Given the description of an element on the screen output the (x, y) to click on. 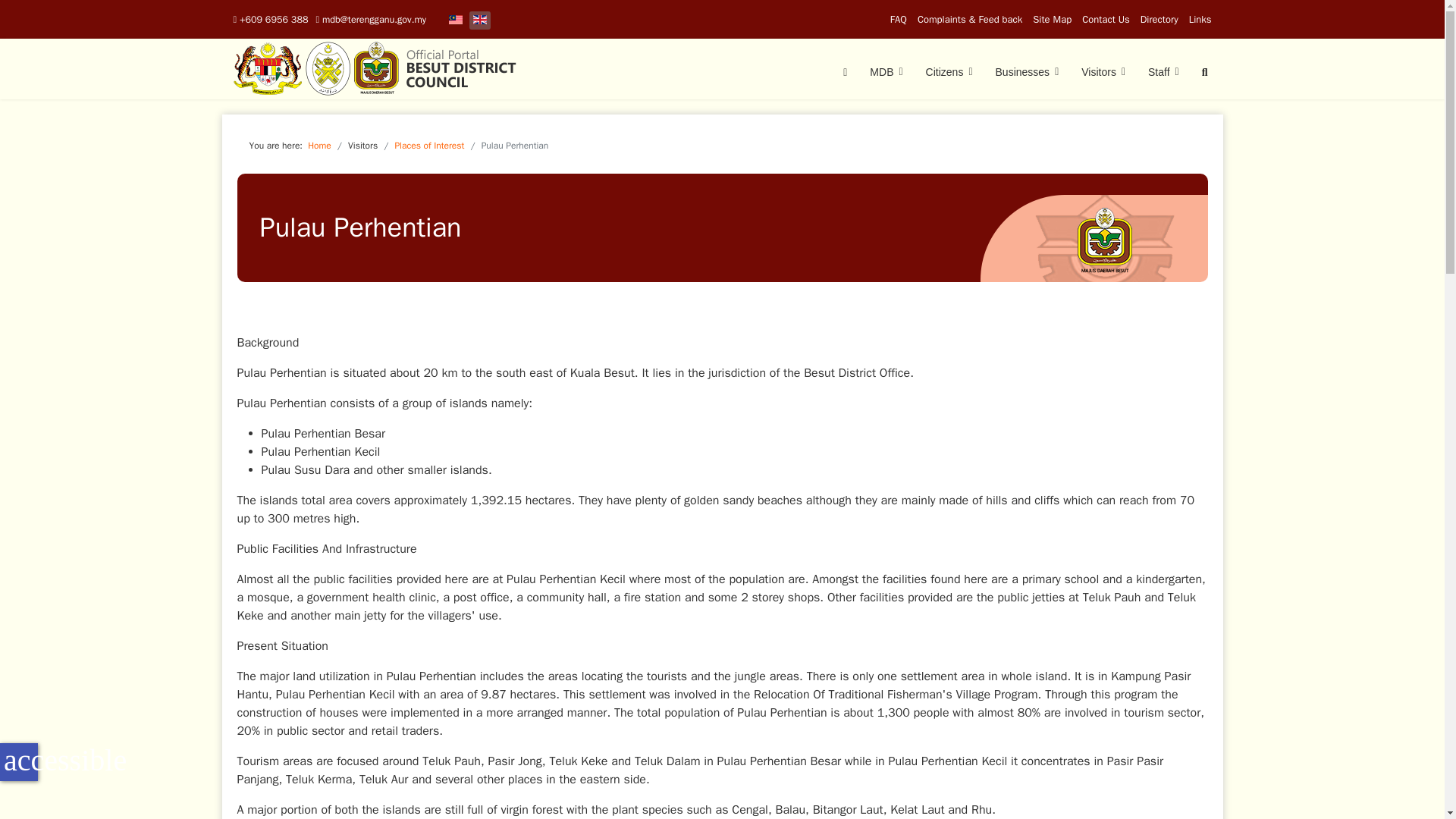
FAQ (898, 19)
Bahasa Melayu  (455, 19)
Links (1200, 19)
Directory (1158, 19)
Contact Us (1105, 19)
Site Map (1051, 19)
